Given the description of an element on the screen output the (x, y) to click on. 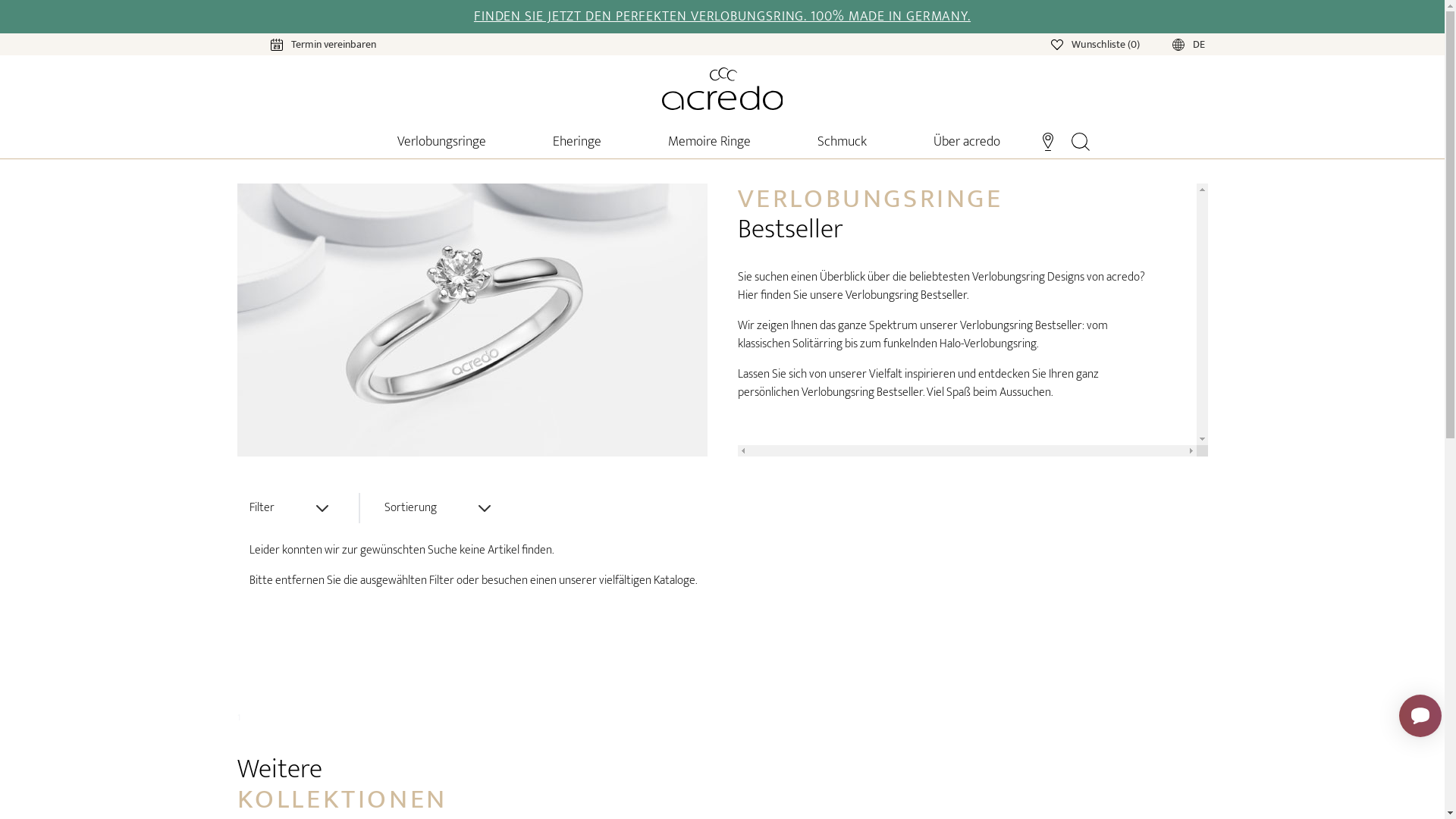
Termin vereinbaren Element type: text (307, 43)
Wunschliste (0) Element type: text (1096, 43)
Smartsupp widget button Element type: hover (1420, 715)
DE Element type: text (1173, 43)
